Given the description of an element on the screen output the (x, y) to click on. 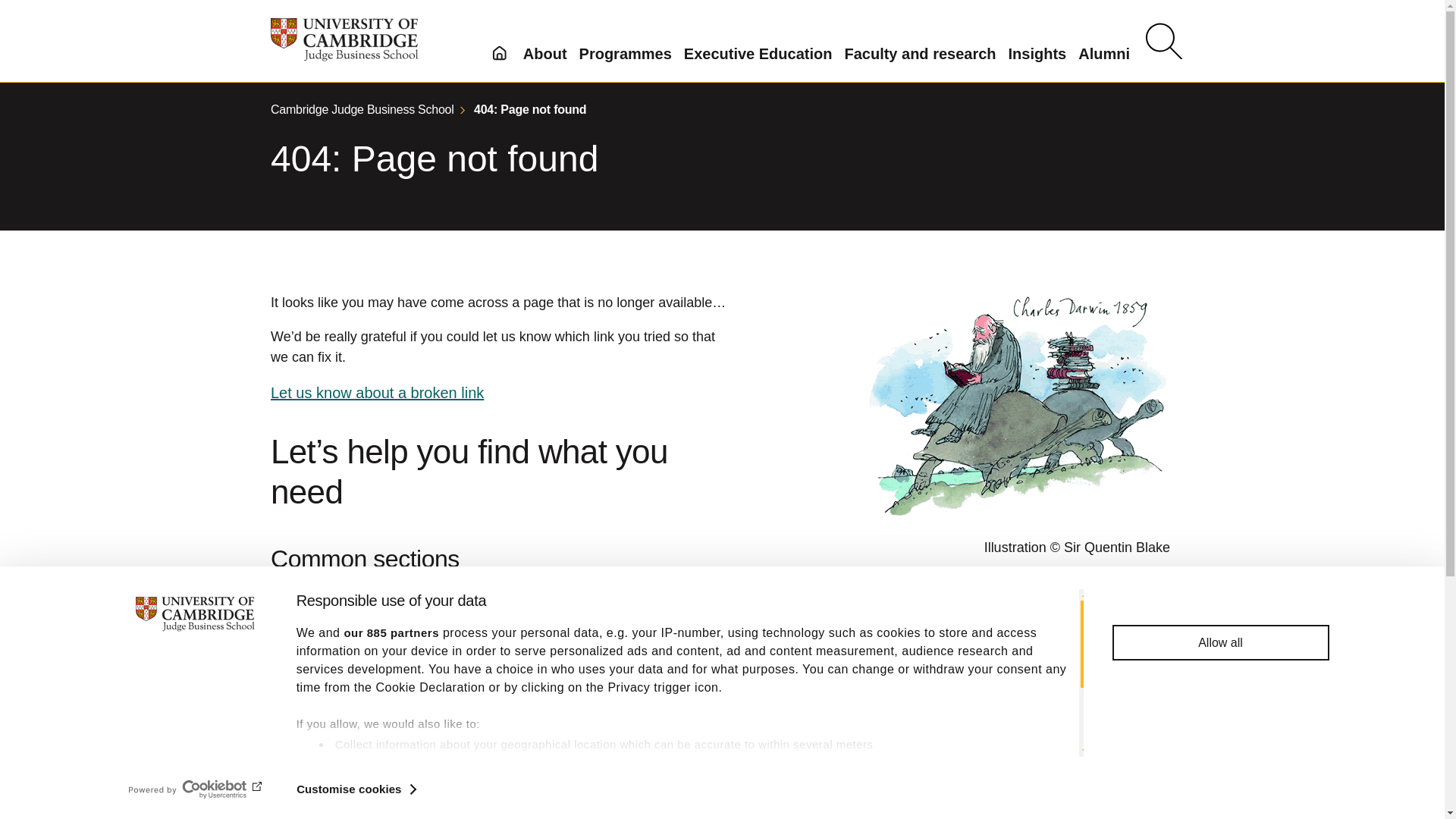
details section (855, 783)
our 885 partners (391, 632)
Customise cookies (355, 789)
